Given the description of an element on the screen output the (x, y) to click on. 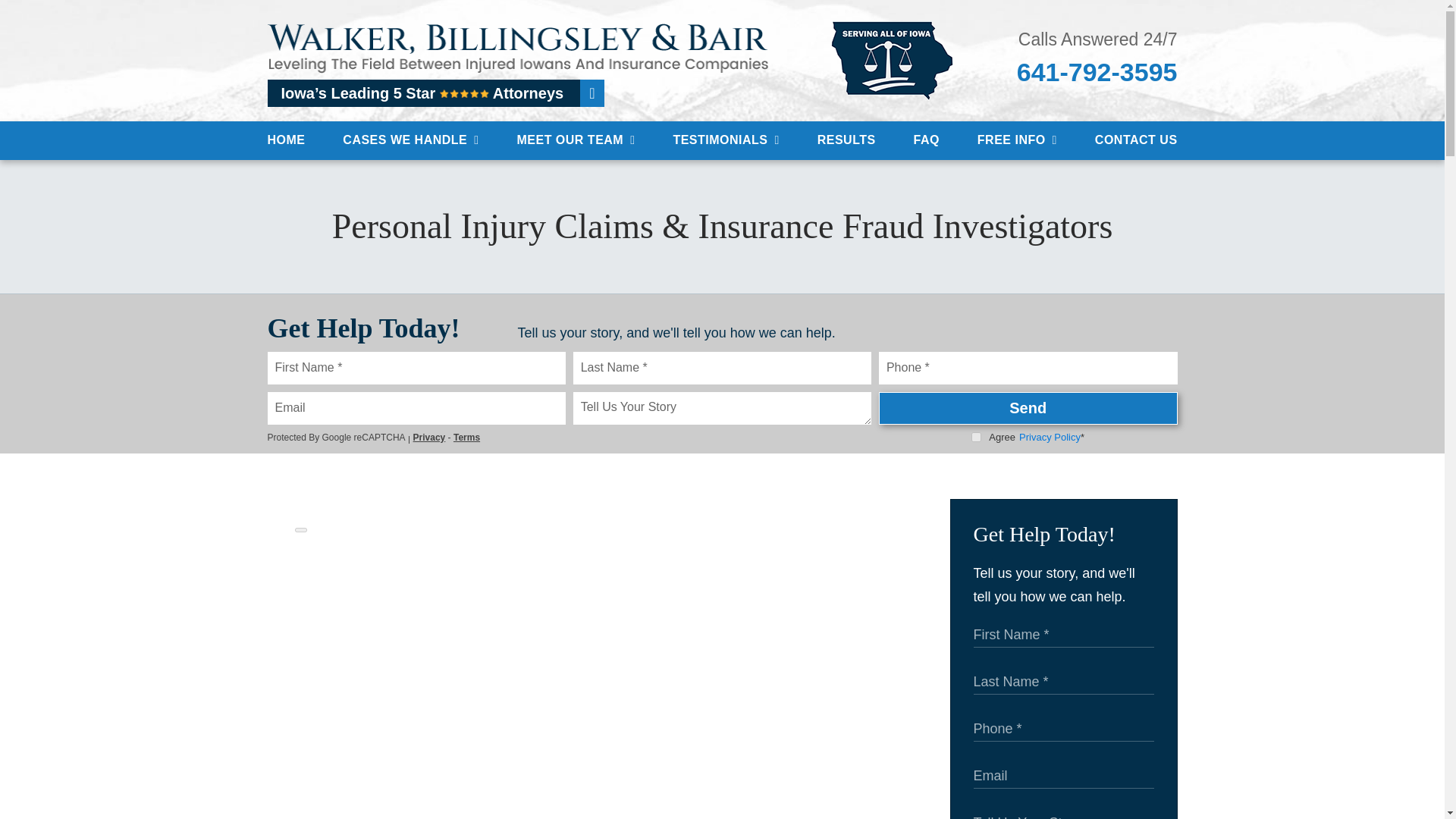
CASES WE HANDLE (410, 140)
1 (976, 437)
MEET OUR TEAM (575, 140)
FAQ (926, 140)
RESULTS (846, 140)
FREE INFO (1016, 140)
TESTIMONIALS (725, 140)
HOME (286, 140)
